Given the description of an element on the screen output the (x, y) to click on. 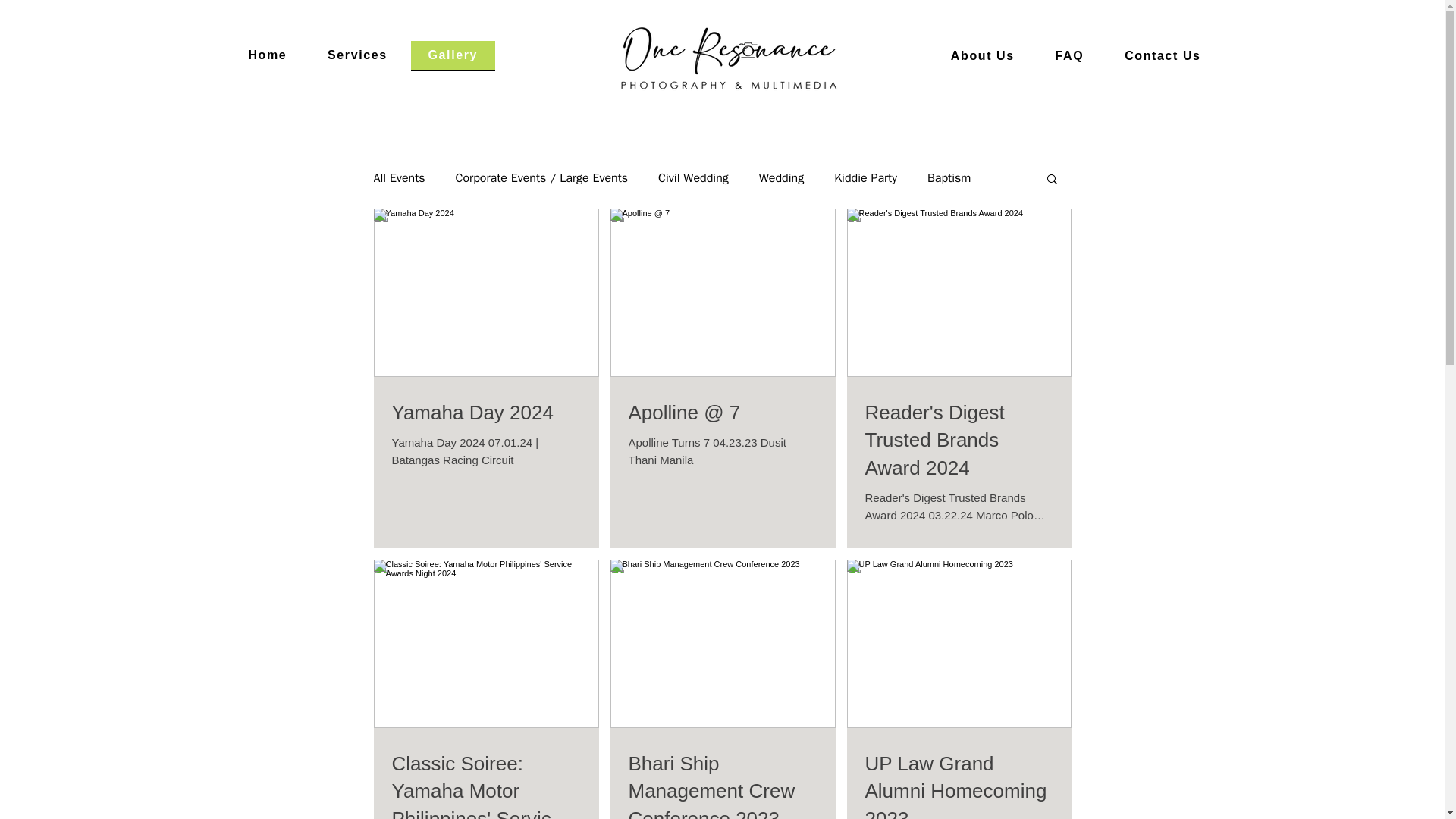
Home (699, 56)
Bhari Ship Management Crew Conference 2023 (721, 784)
All Events (398, 177)
Civil Wedding (693, 177)
About Us (982, 56)
Gallery (452, 55)
Reader's Digest Trusted Brands Award 2024 (958, 439)
FAQ (637, 55)
Wedding (780, 177)
